Given the description of an element on the screen output the (x, y) to click on. 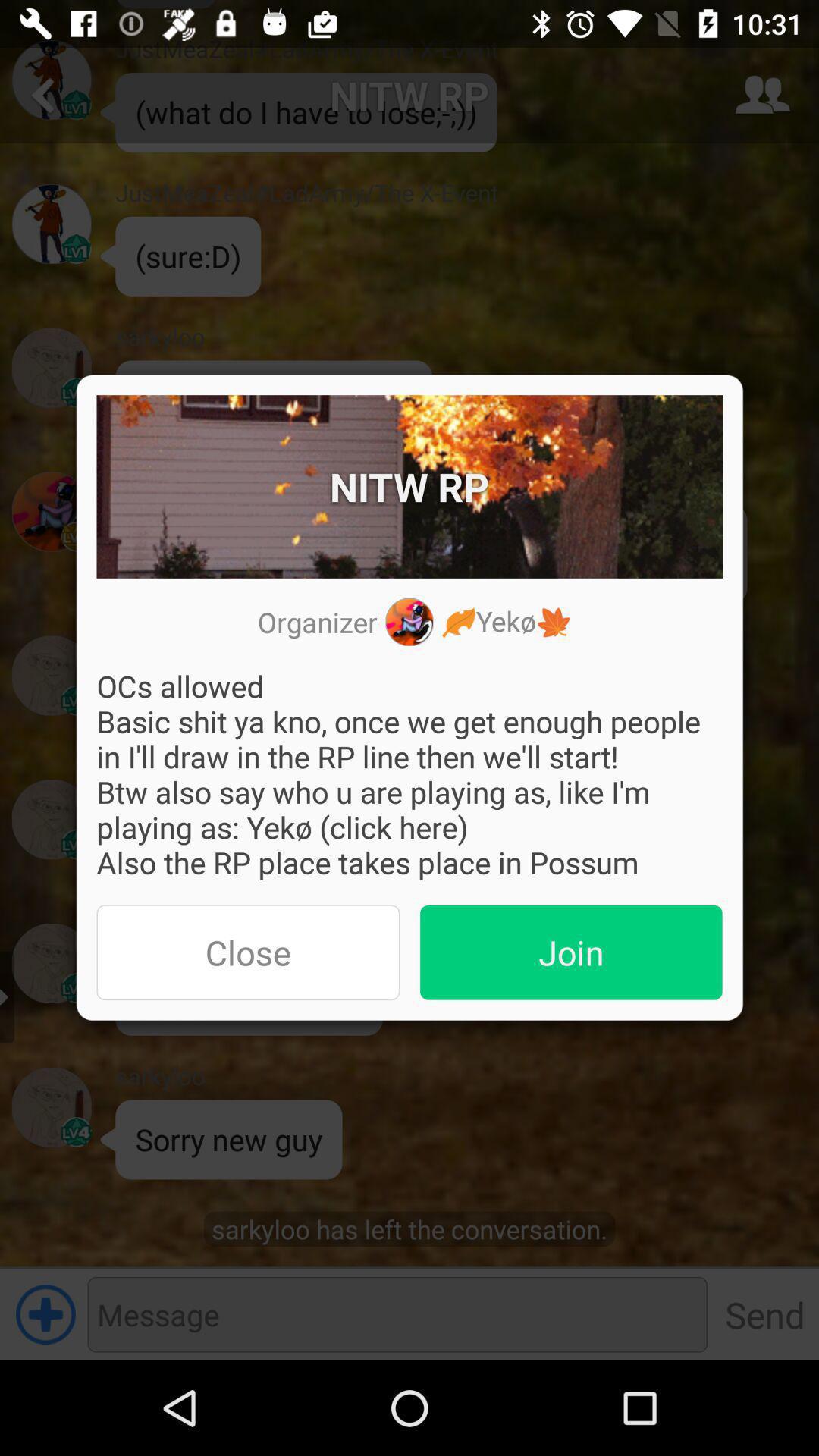
flip until join (570, 952)
